Given the description of an element on the screen output the (x, y) to click on. 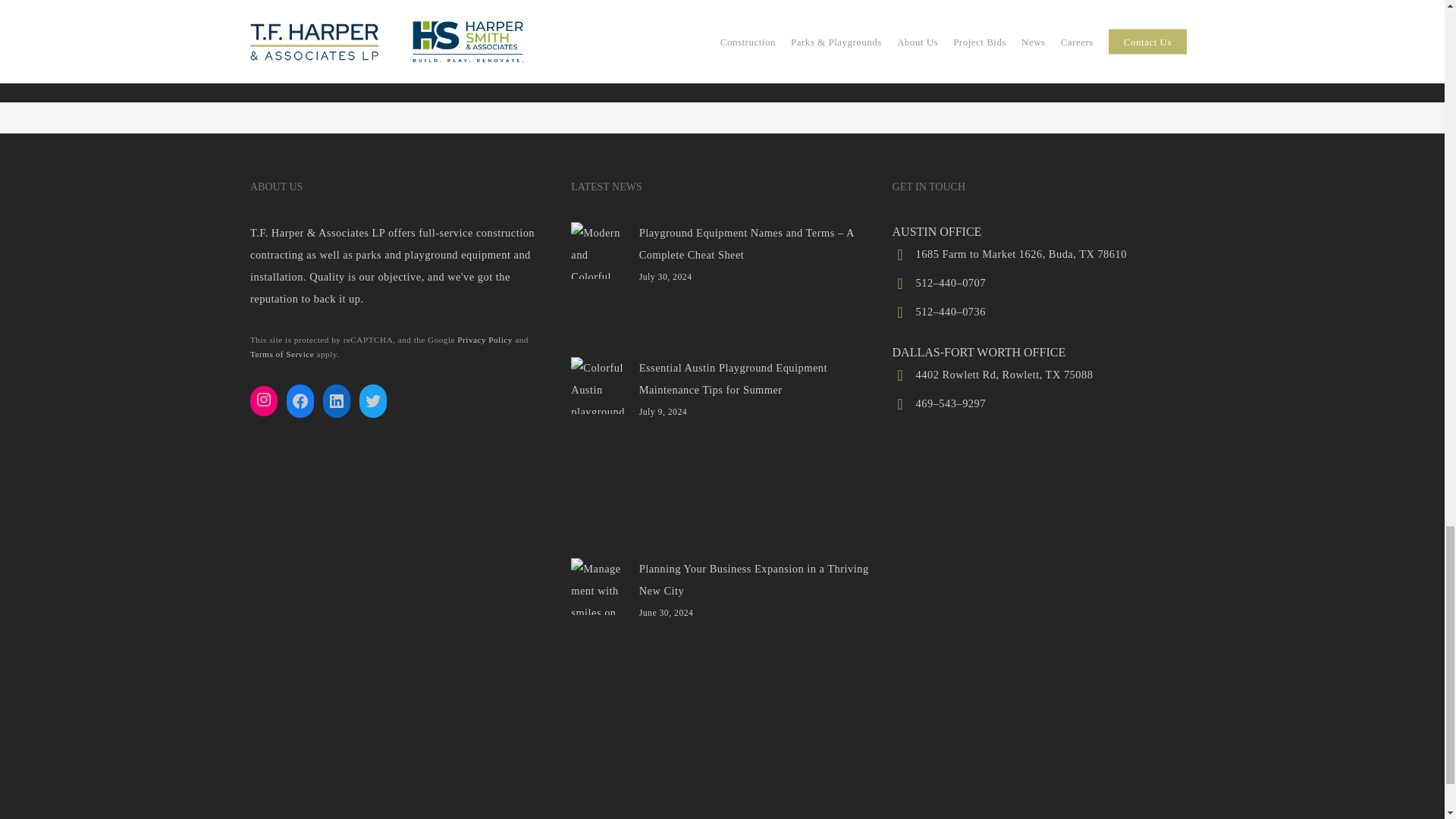
View Our LinkedIn Profile (336, 400)
Twitter (373, 400)
Terms of Service (282, 353)
View Our Facebook Page (300, 400)
View Our Instagram Feed (264, 399)
Planning Your Business Expansion in a Thriving New City (721, 579)
Privacy Policy (484, 338)
